Given the description of an element on the screen output the (x, y) to click on. 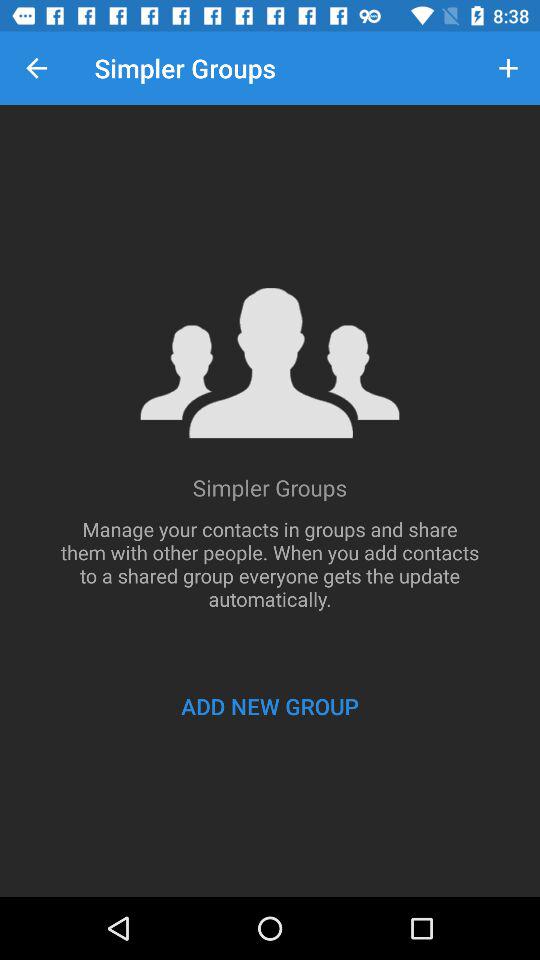
turn off icon to the left of simpler groups (36, 68)
